Given the description of an element on the screen output the (x, y) to click on. 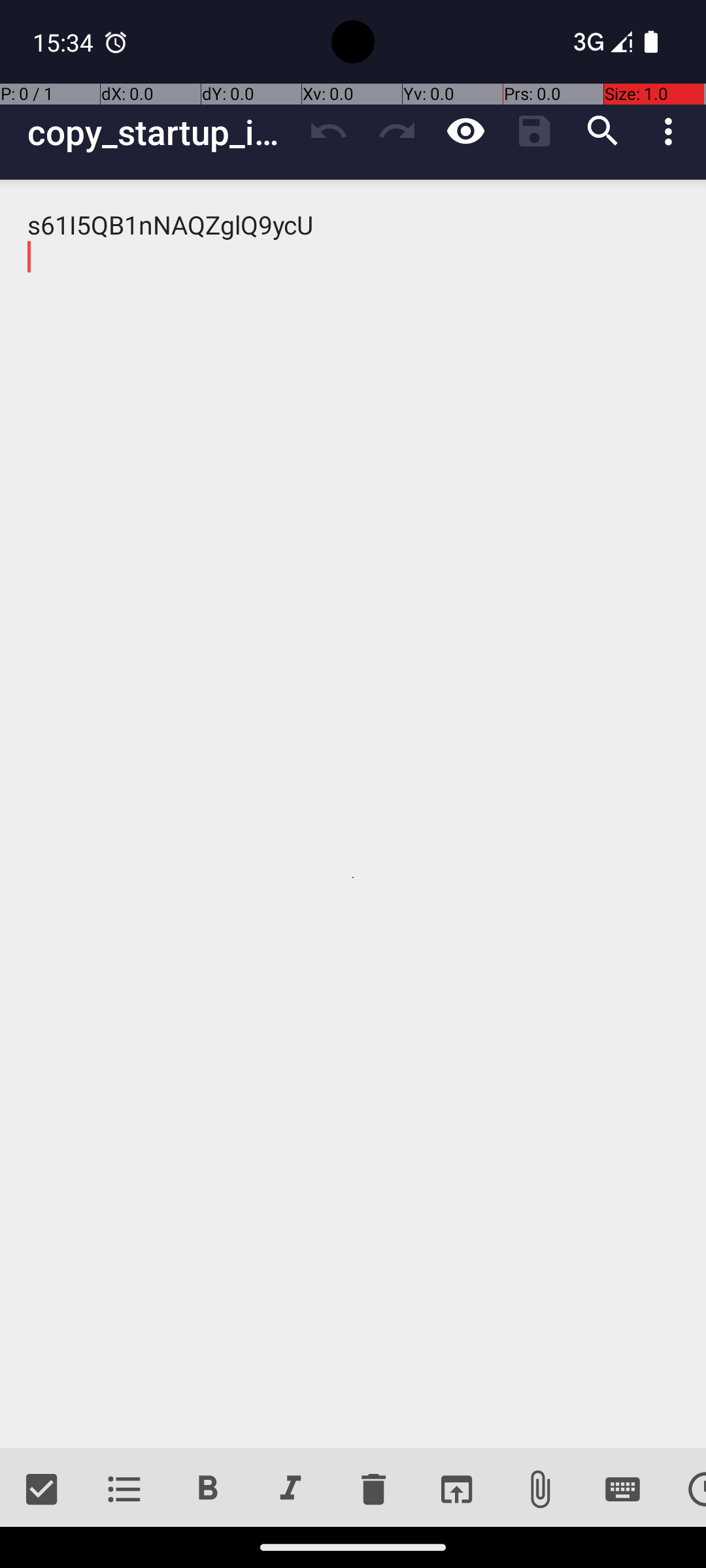
copy_startup_ideas_launch Element type: android.widget.TextView (160, 131)
s61I5QB1nNAQZglQ9ycU
 Element type: android.widget.EditText (353, 813)
